Given the description of an element on the screen output the (x, y) to click on. 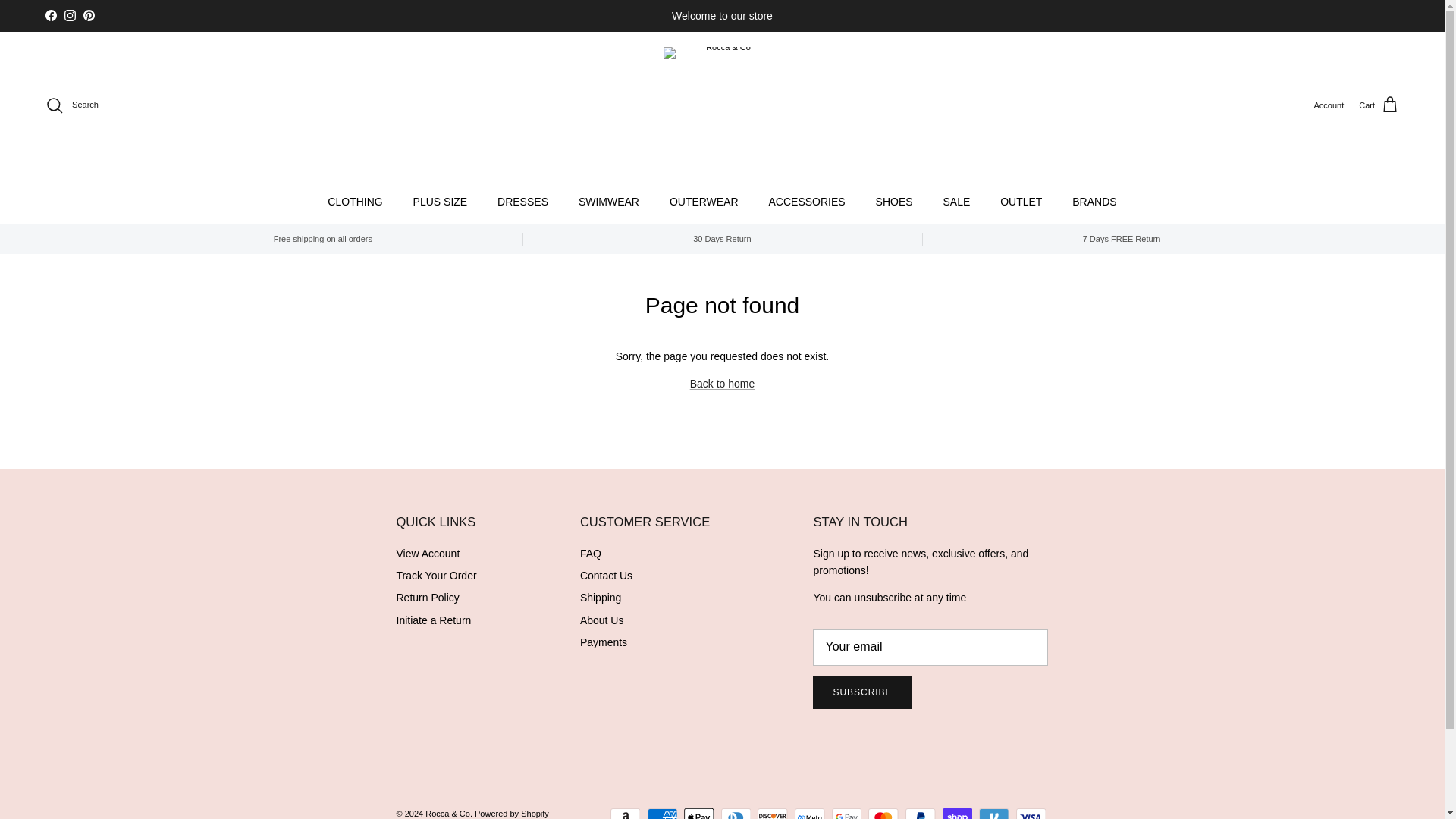
Visa (1031, 813)
Facebook (50, 15)
Instagram (69, 15)
Diners Club (735, 813)
Meta Pay (809, 813)
Pinterest (88, 15)
Search (72, 105)
Google Pay (846, 813)
PayPal (919, 813)
American Express (662, 813)
